Given the description of an element on the screen output the (x, y) to click on. 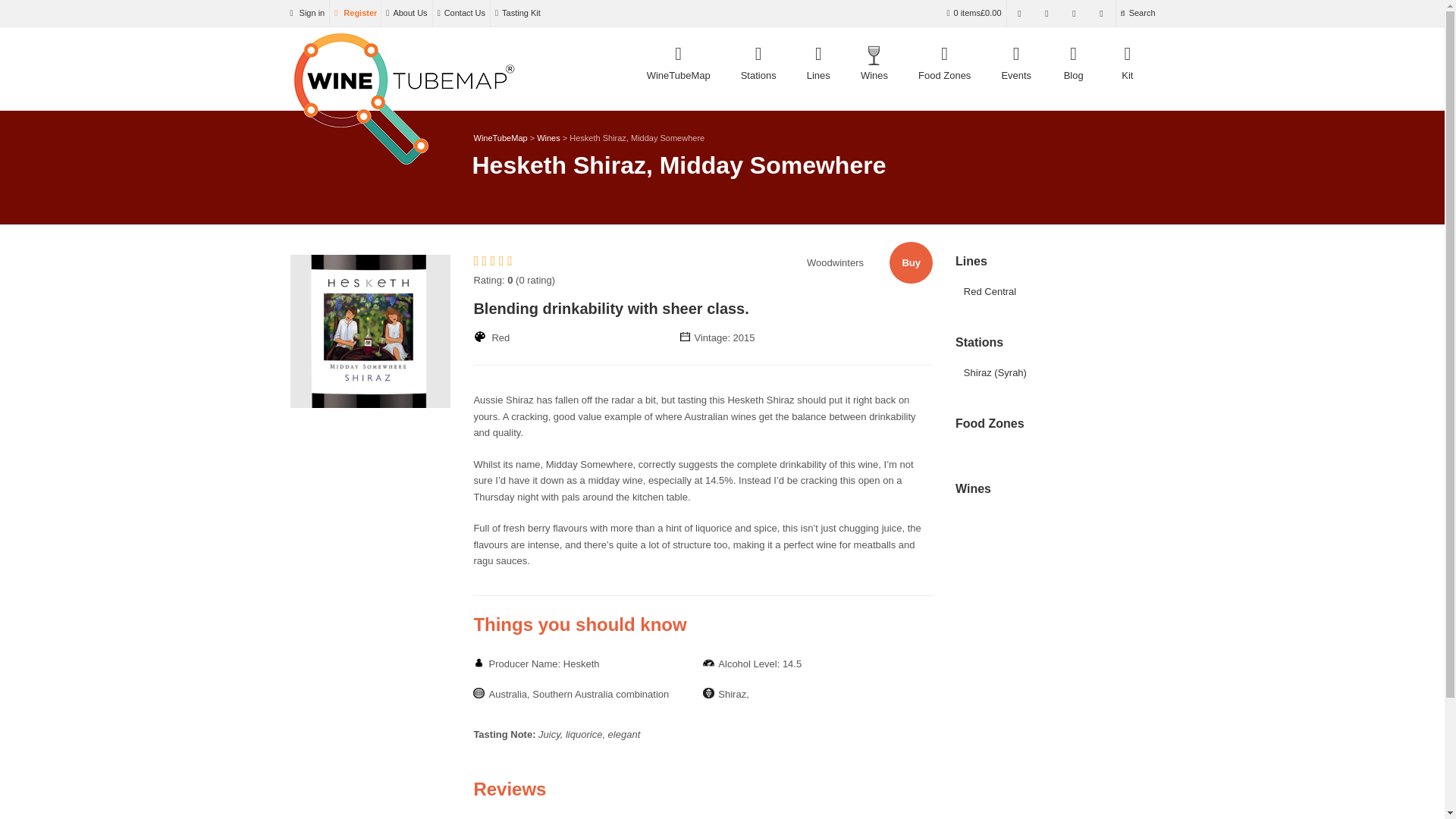
Red Central (989, 291)
Contact Us (461, 13)
WineTubeMap (678, 62)
Go to the Wines category archives. (548, 137)
About Us (405, 13)
Wines (548, 137)
Buy (911, 262)
Rated 0 (892, 62)
Go to WineTubeMap. (494, 260)
